Given the description of an element on the screen output the (x, y) to click on. 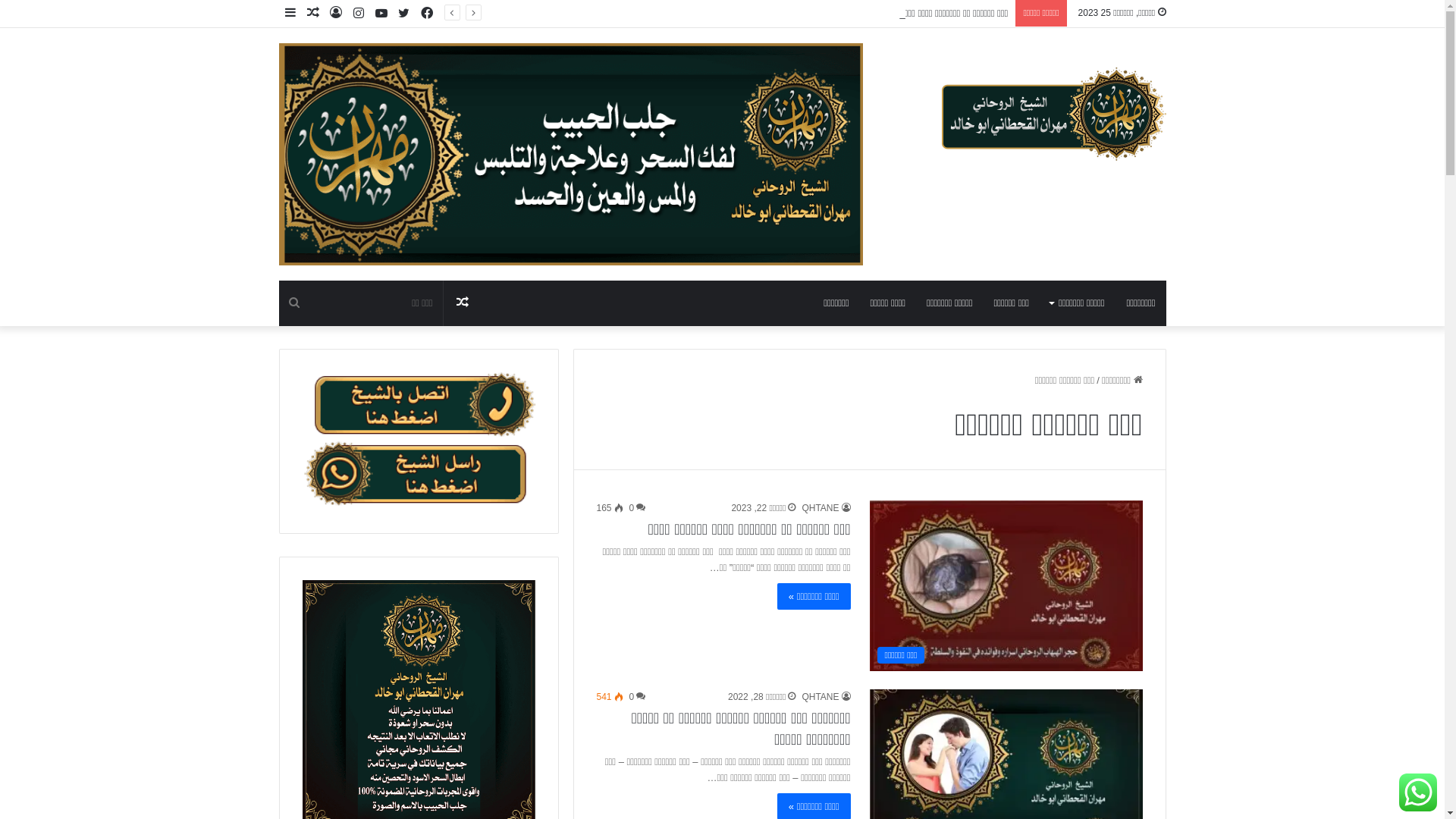
QHTANE Element type: text (825, 696)
QHTANE Element type: text (825, 507)
